Given the description of an element on the screen output the (x, y) to click on. 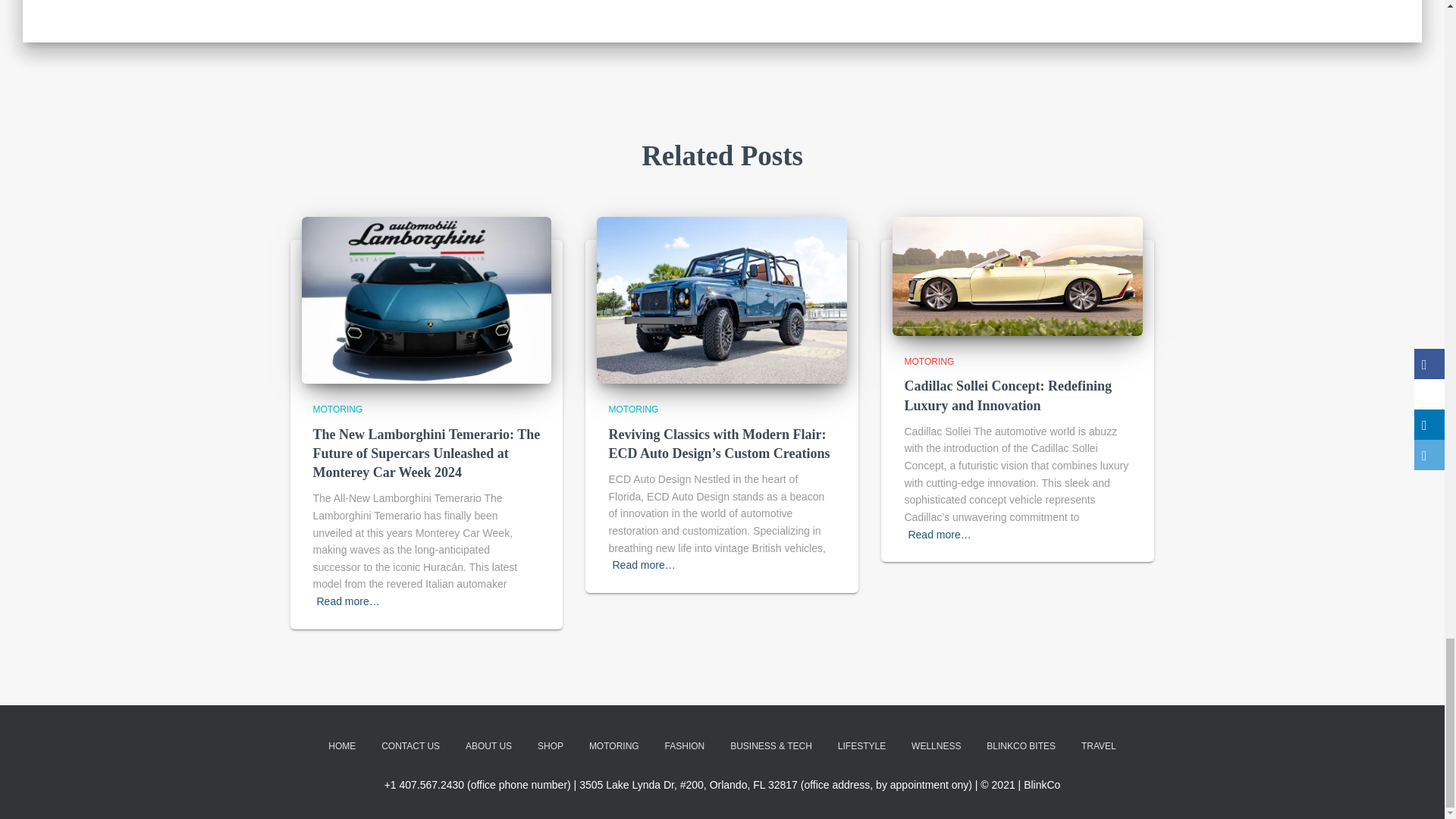
CONTACT US (410, 746)
SHOP (550, 746)
MOTORING (337, 409)
FASHION (684, 746)
MOTORING (928, 361)
MOTORING (633, 409)
HOME (341, 746)
MOTORING (614, 746)
Cadillac Sollei Concept: Redefining Luxury and Innovation (1008, 395)
